Given the description of an element on the screen output the (x, y) to click on. 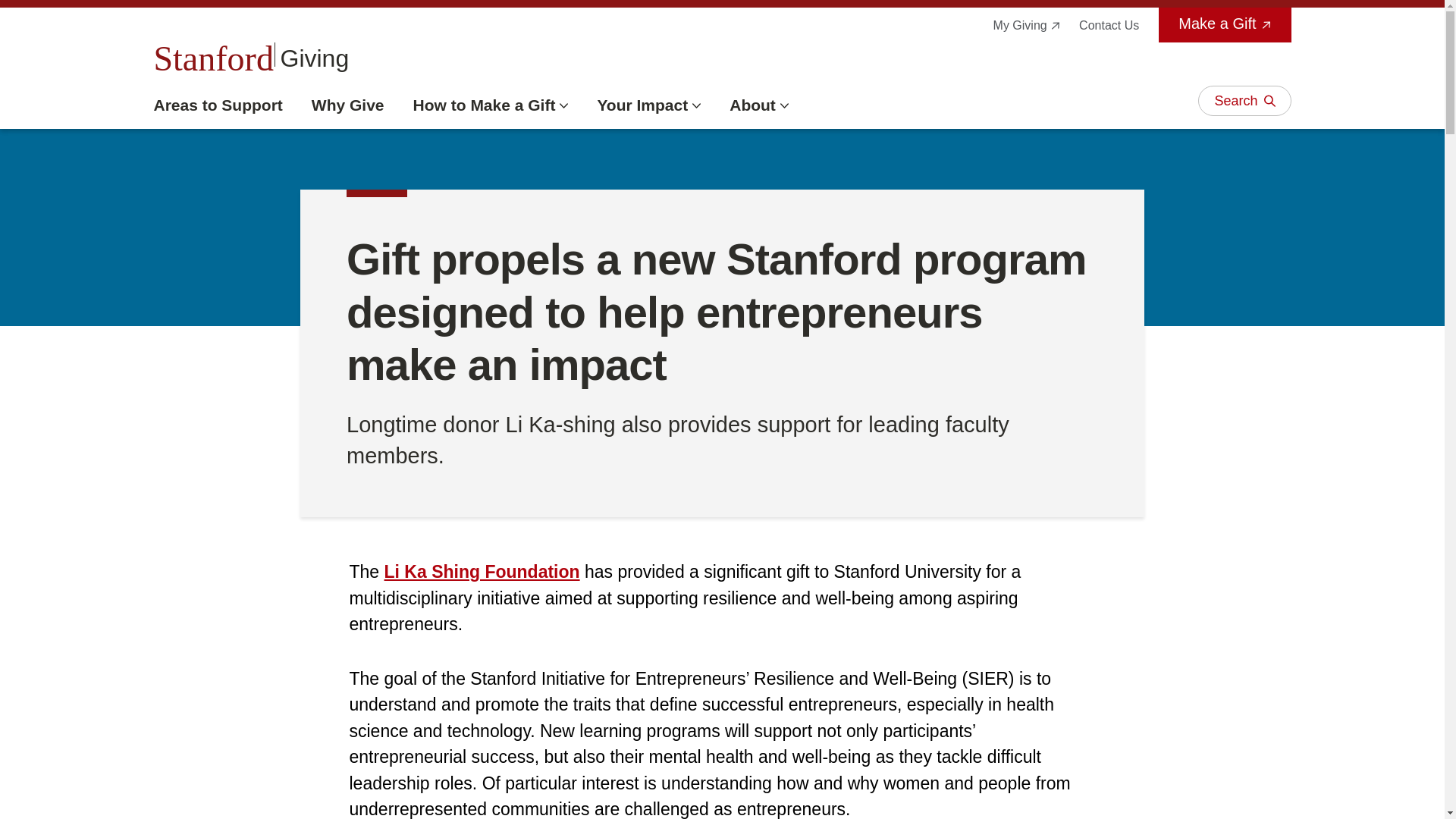
How to Make a Gift (491, 104)
Contact Us (250, 54)
Your Impact (1108, 24)
Areas to Support (648, 104)
Why Give (217, 104)
